Given the description of an element on the screen output the (x, y) to click on. 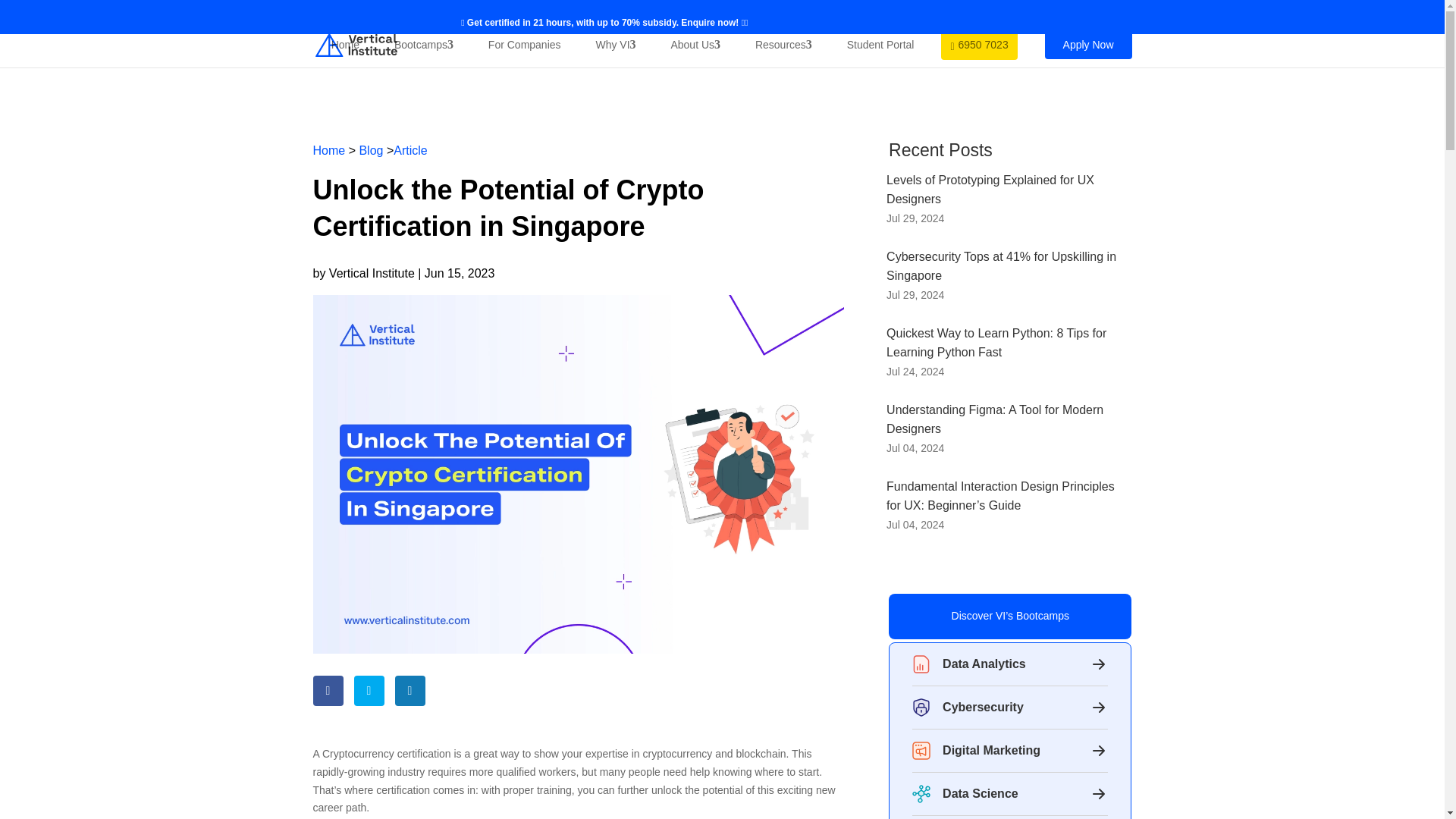
About Us (695, 44)
Apply Now (1088, 44)
Home (329, 150)
Vertical Institute (371, 273)
Posts by Vertical Institute (371, 273)
Resources (783, 44)
6950 7023 (978, 44)
Article (409, 150)
Student Portal (880, 44)
Bootcamps (424, 44)
Home (344, 44)
Why VI (615, 44)
For Companies (524, 44)
Blog (370, 150)
